Given the description of an element on the screen output the (x, y) to click on. 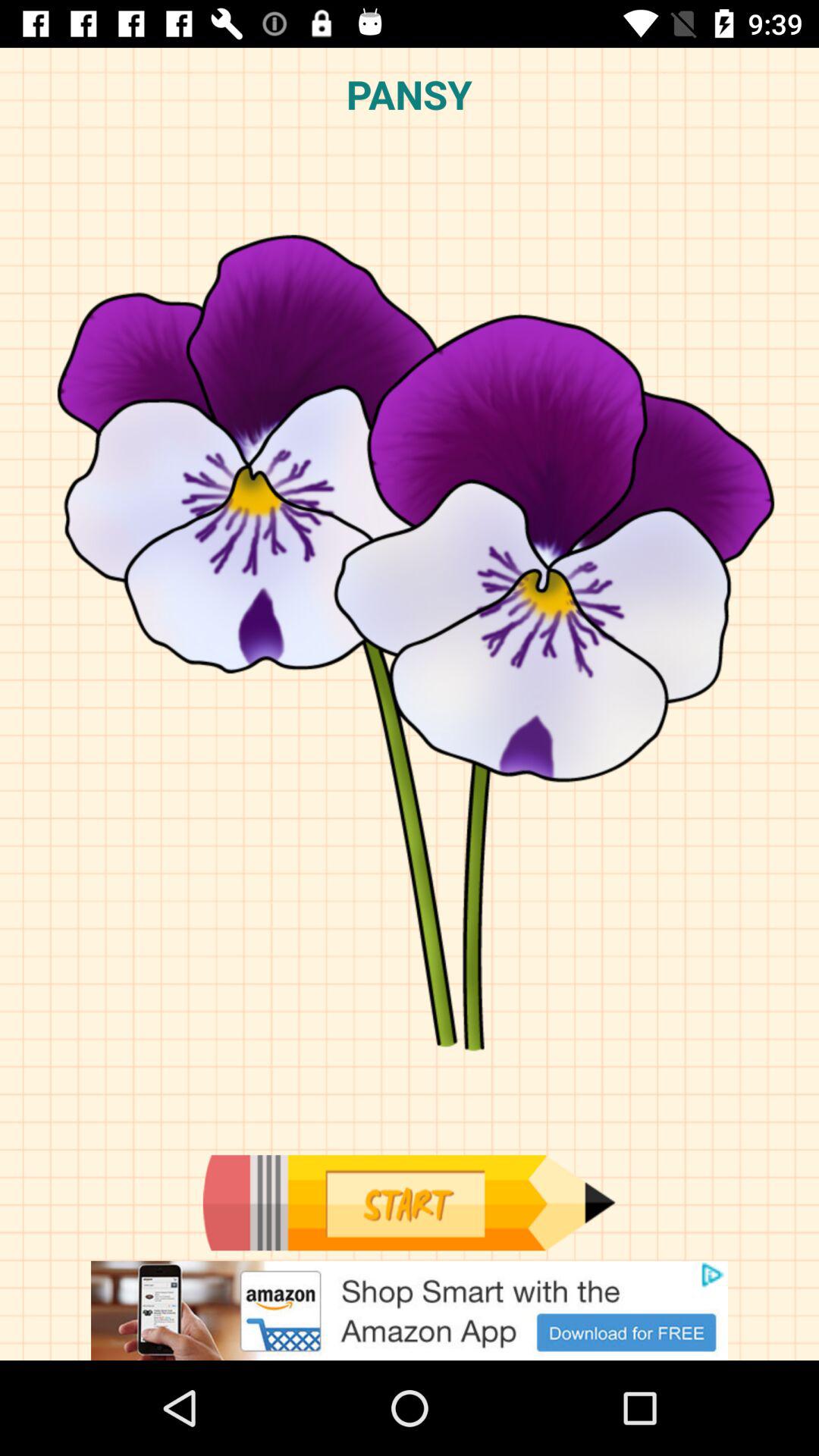
advertisement (409, 1310)
